Given the description of an element on the screen output the (x, y) to click on. 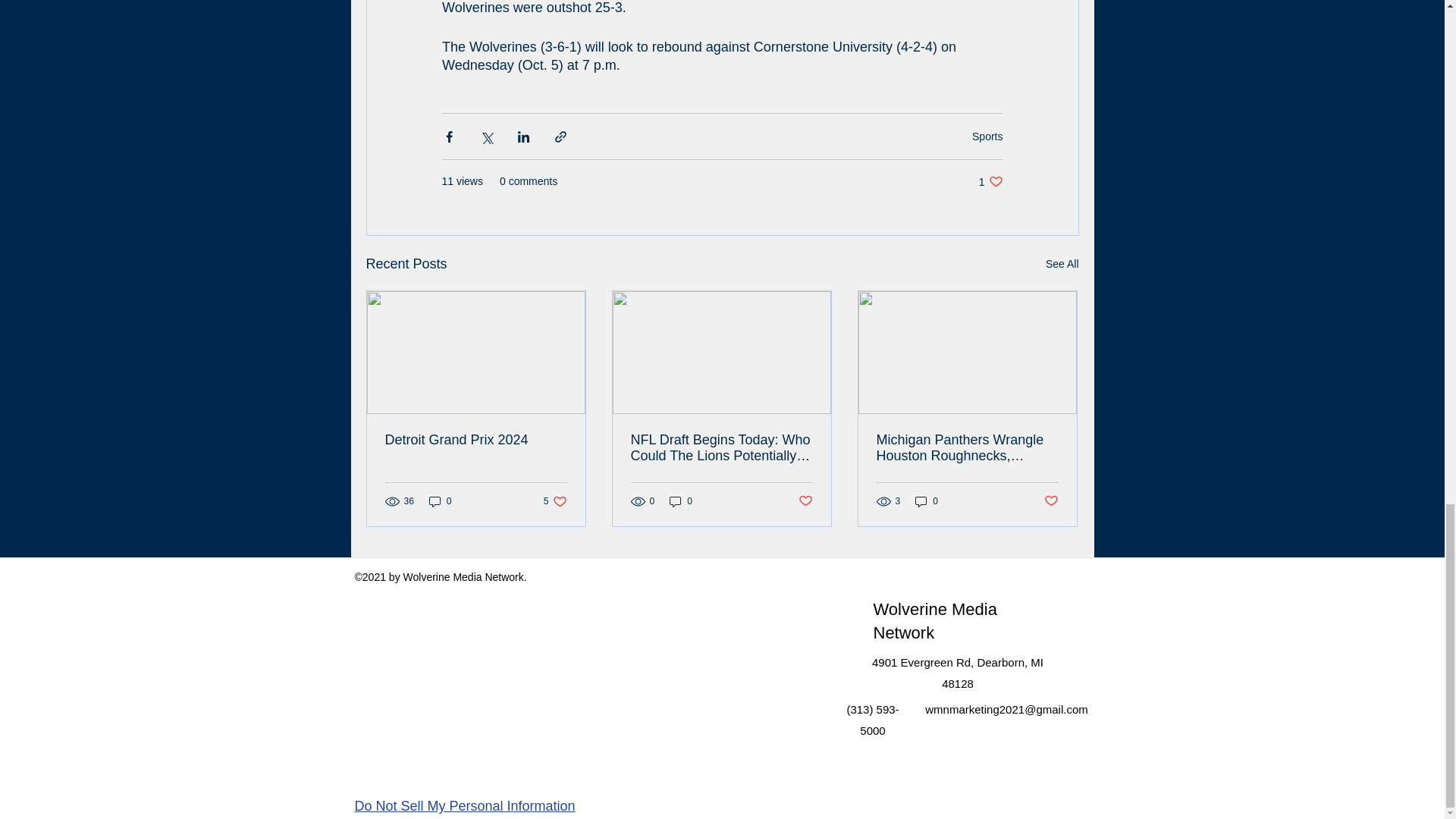
0 (681, 501)
Post not marked as liked (804, 501)
Detroit Grand Prix 2024 (476, 439)
0 (555, 501)
See All (440, 501)
Sports (990, 181)
